Given the description of an element on the screen output the (x, y) to click on. 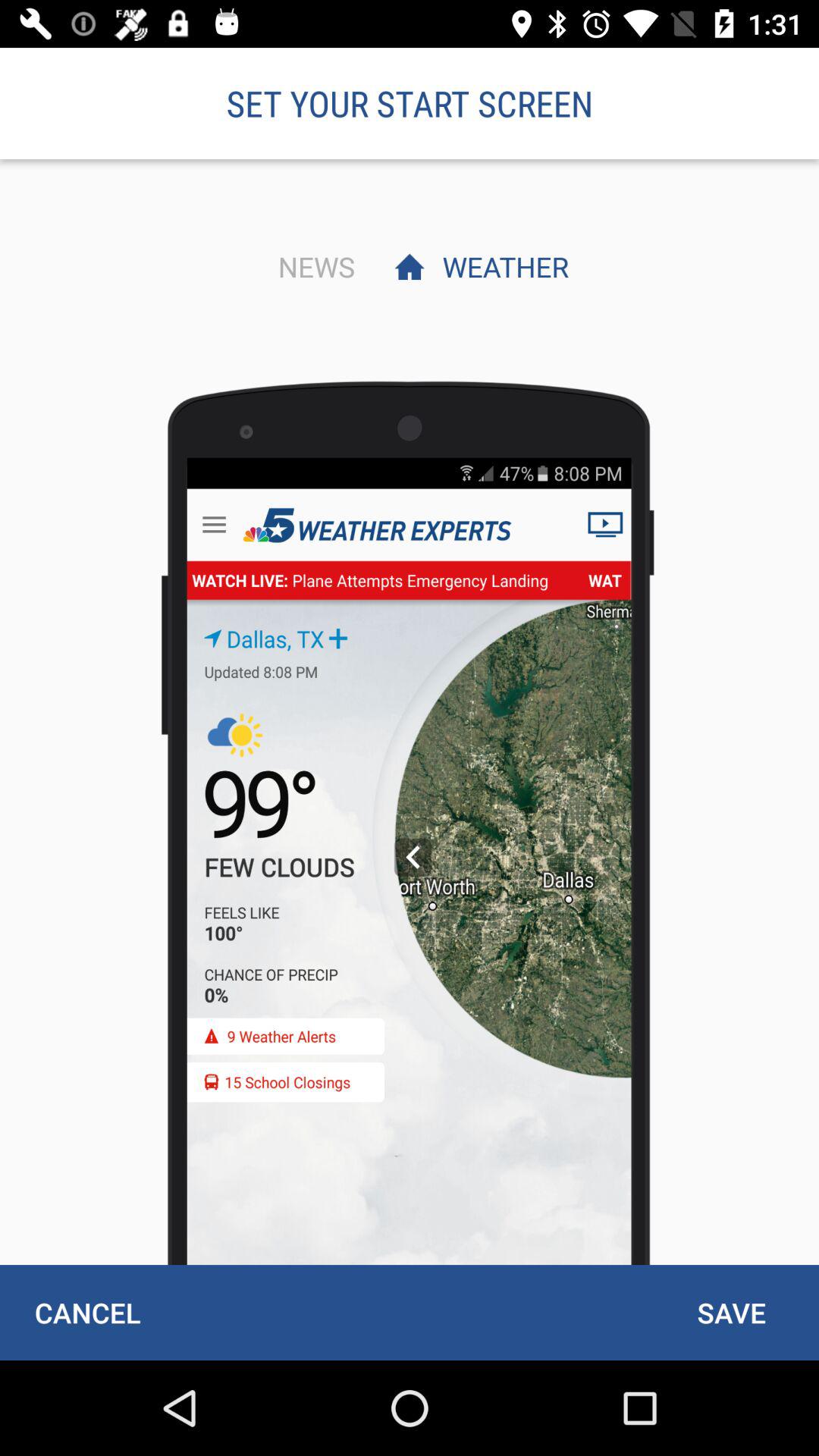
tap the icon to the right of news (501, 266)
